Given the description of an element on the screen output the (x, y) to click on. 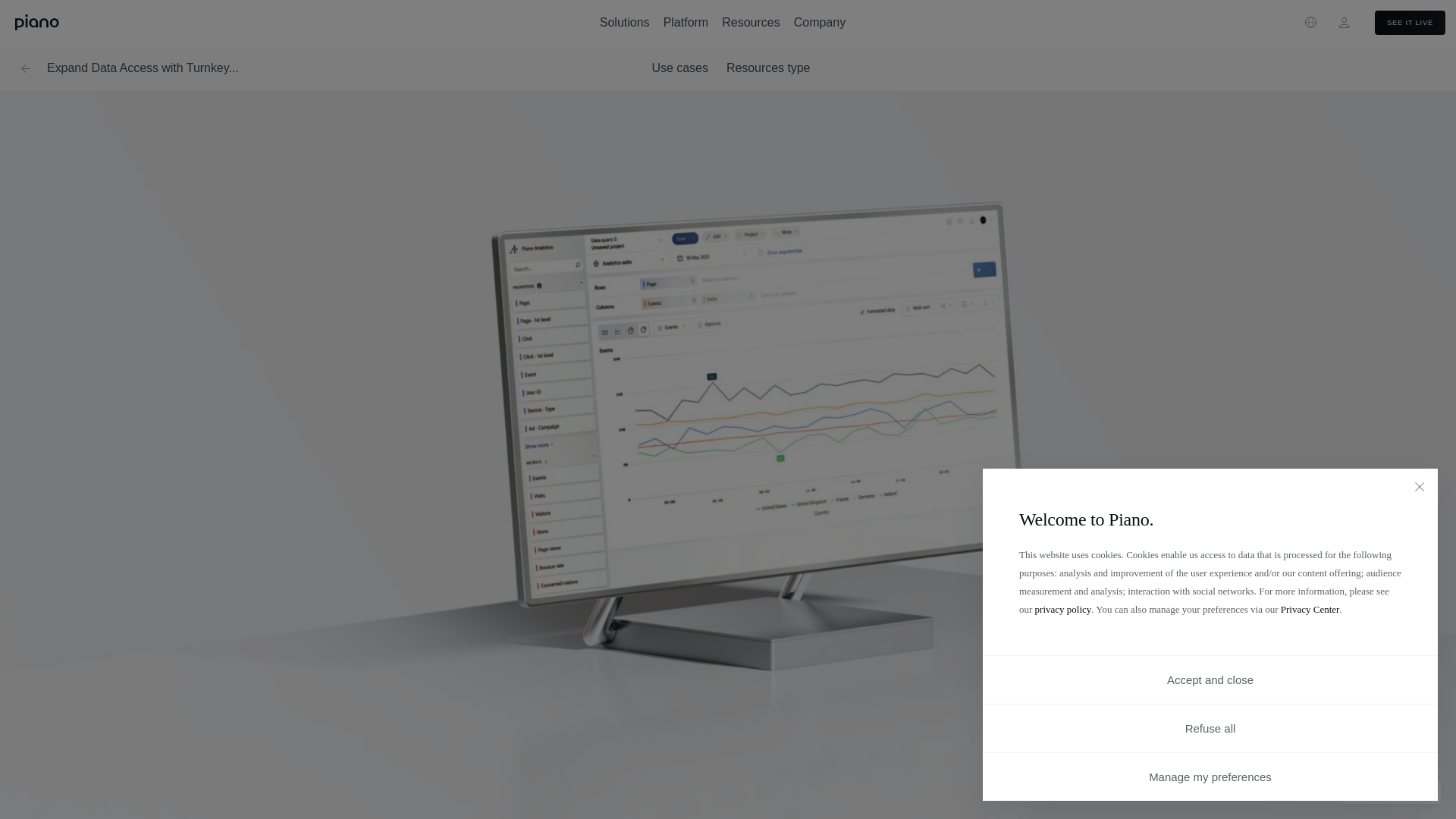
Manage my preferences (1210, 776)
Accept and close (1210, 679)
Use cases (679, 67)
Refuse all (1210, 727)
Piano Privacy Policy (1063, 609)
Resources type (768, 67)
